Given the description of an element on the screen output the (x, y) to click on. 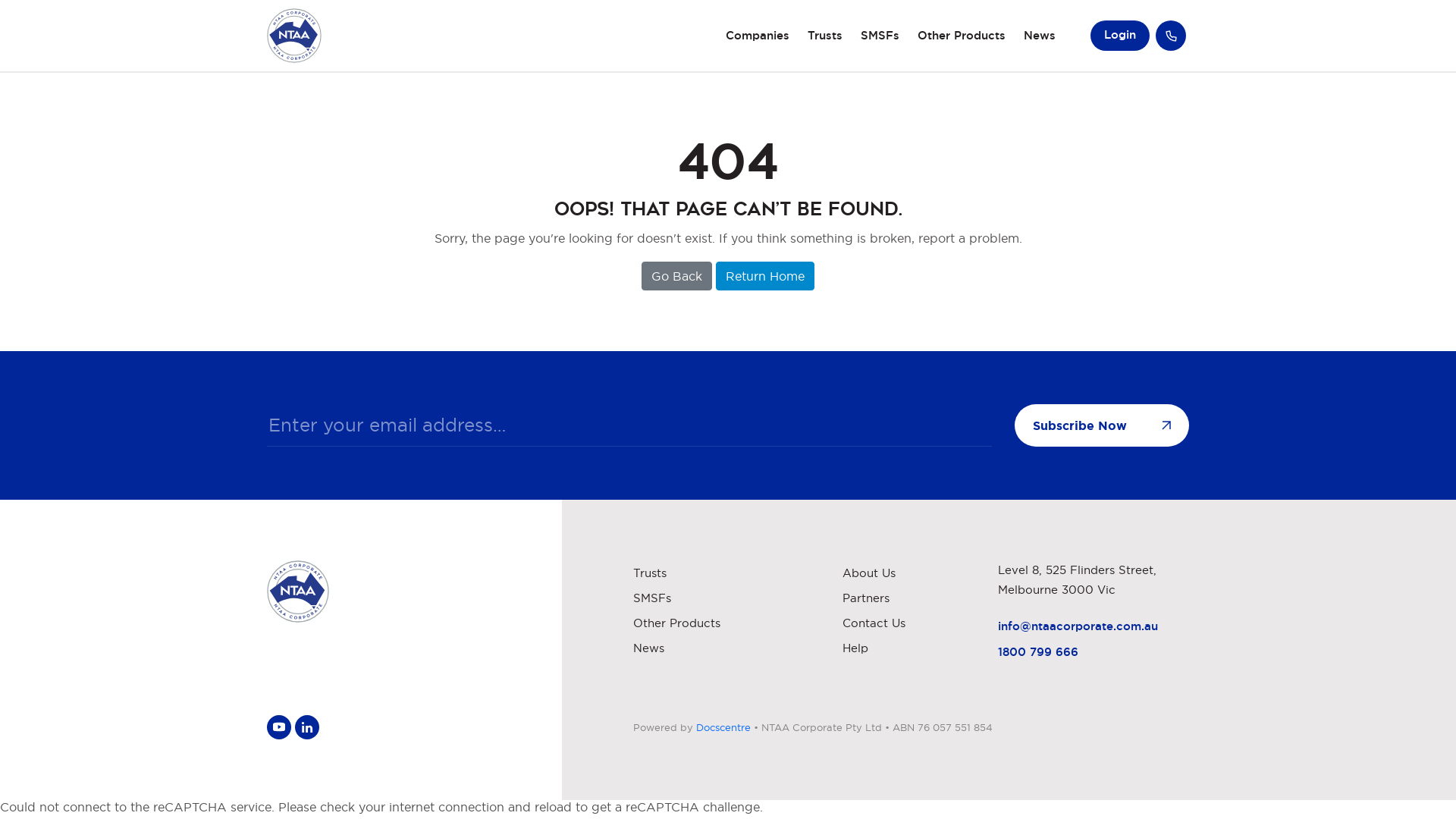
Subscribe Now Element type: text (1101, 425)
Docscentre Element type: text (723, 726)
Trusts Element type: text (649, 572)
News Element type: text (1039, 35)
Other Products Element type: text (961, 35)
Partners Element type: text (865, 597)
SMSFs Element type: text (879, 35)
info@ntaacorporate.com.au Element type: text (1077, 626)
About Us Element type: text (868, 572)
Call Element type: text (1170, 35)
Return Home Element type: text (764, 275)
News Element type: text (648, 647)
SMSFs Element type: text (652, 597)
Help Element type: text (855, 647)
Contact Us Element type: text (873, 622)
Login Element type: text (1119, 35)
Trusts Element type: text (824, 35)
1800 799 666 Element type: text (1037, 651)
Other Products Element type: text (676, 622)
Companies Element type: text (757, 35)
Go Back Element type: text (676, 275)
